Given the description of an element on the screen output the (x, y) to click on. 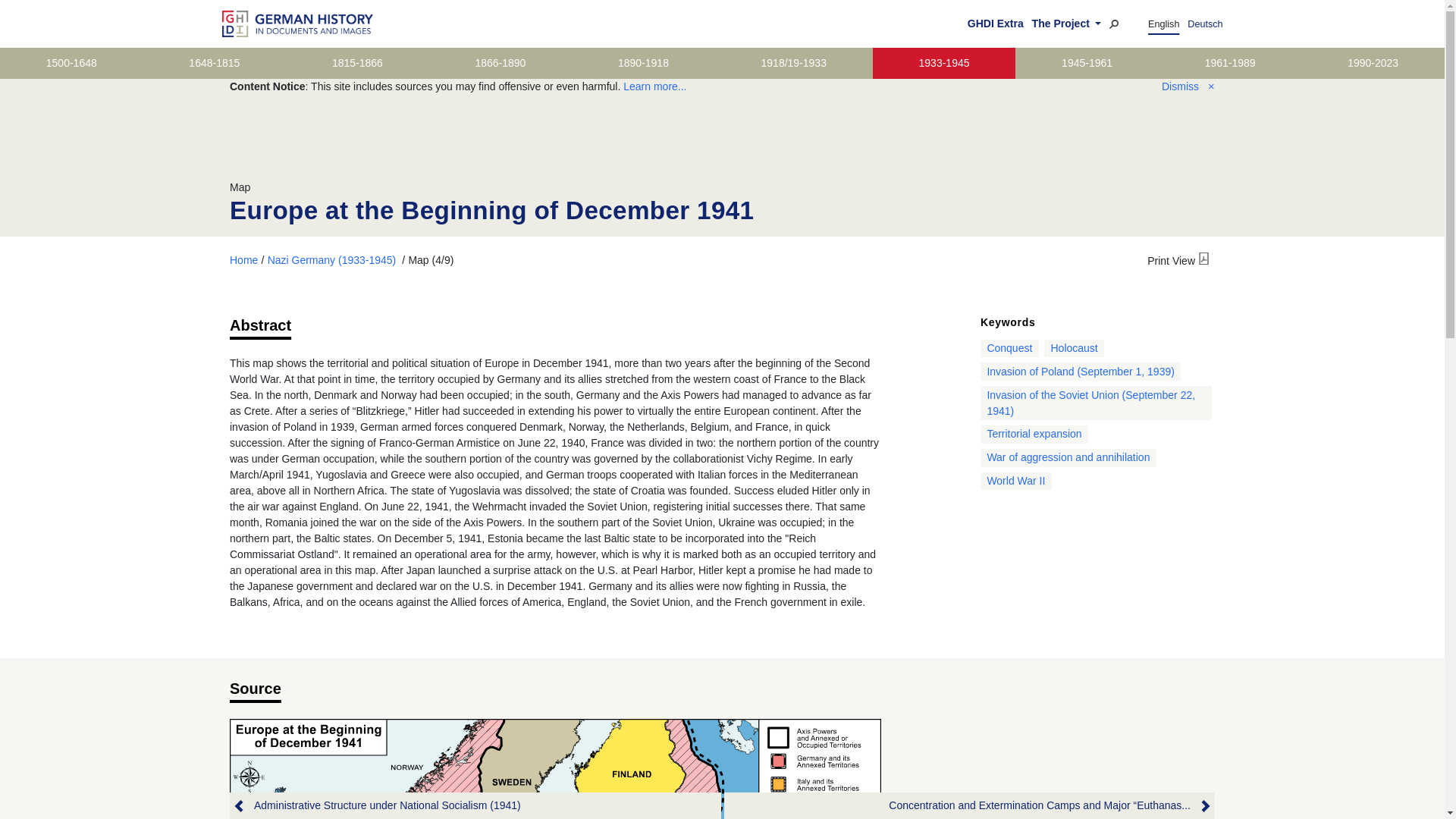
1890-1918 (642, 62)
1815-1866 (356, 62)
1500-1648 (71, 62)
World War II (1016, 480)
1866-1890 (499, 62)
1945-1961 (1086, 62)
Conquest (1009, 347)
1933-1945 (943, 62)
Deutsch (1205, 23)
Learn more... (654, 86)
